Given the description of an element on the screen output the (x, y) to click on. 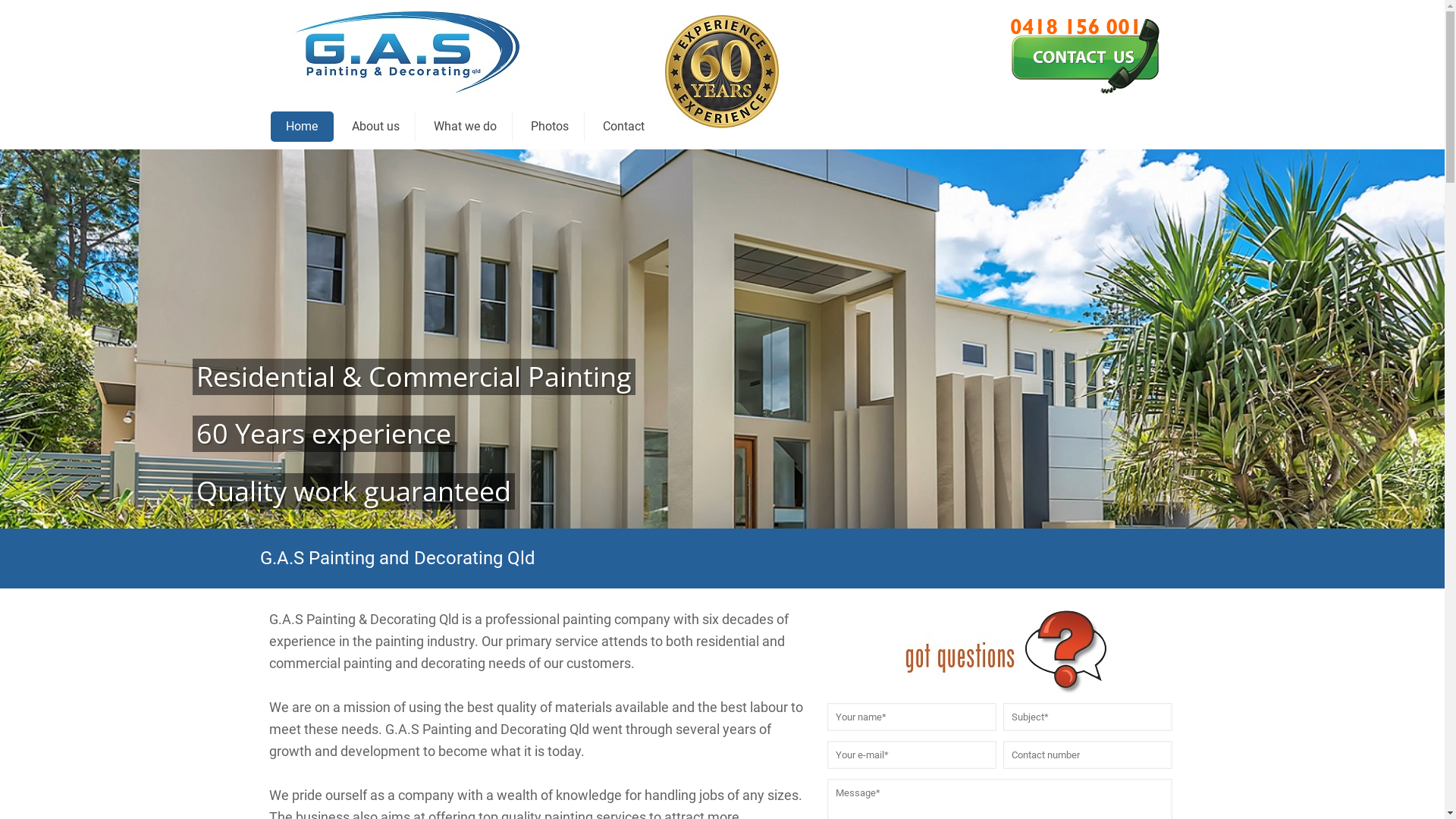
Photos Element type: text (549, 126)
G.A.S Painting & Decorating Qld Element type: hover (405, 51)
Home Element type: text (301, 126)
What we do Element type: text (465, 126)
About us Element type: text (375, 126)
Contact Element type: text (623, 126)
